Given the description of an element on the screen output the (x, y) to click on. 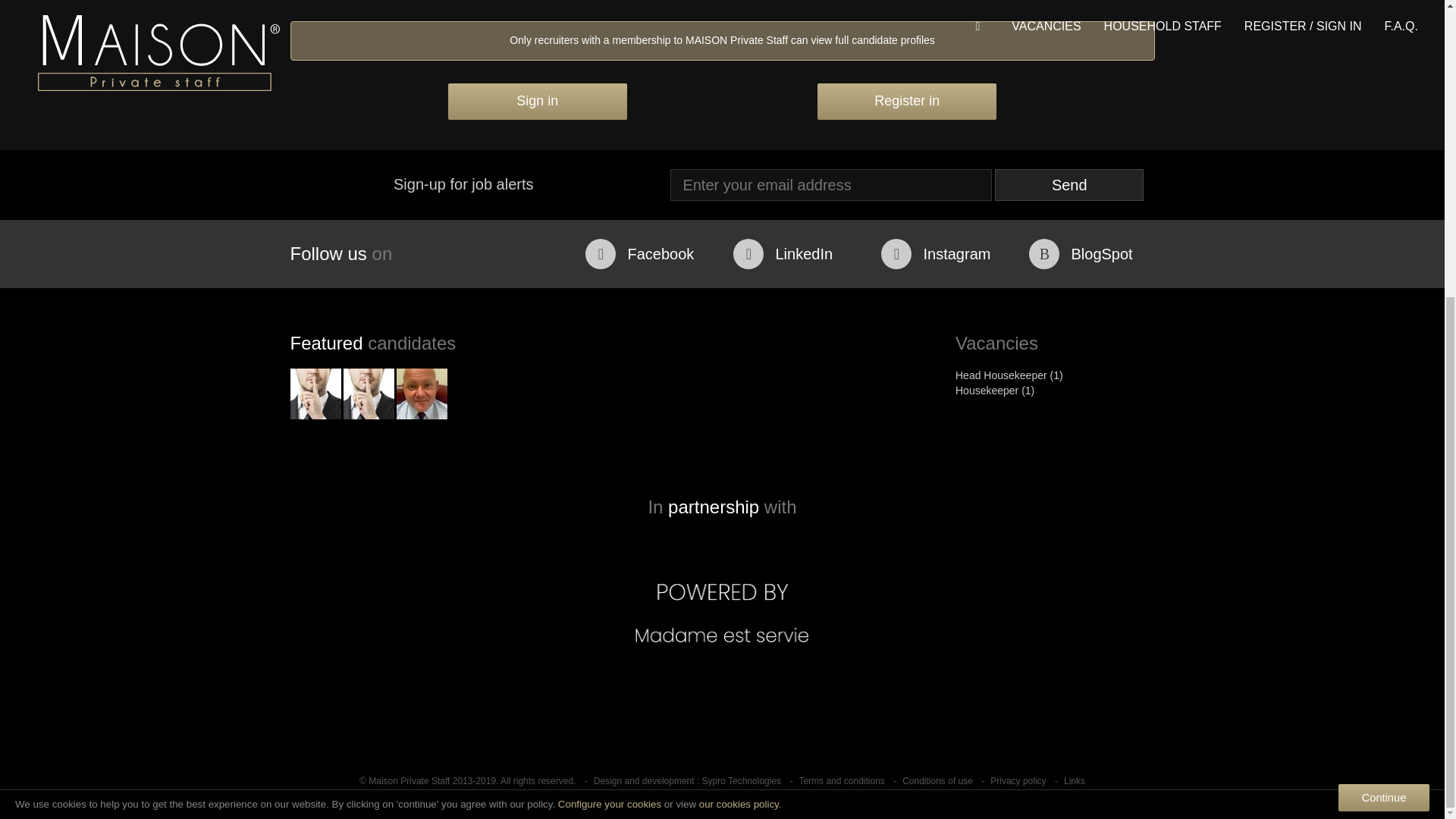
Links (1074, 780)
Send (1068, 184)
BlogSpot (1091, 254)
Facebook (647, 254)
Instagram (943, 254)
LinkedIn (796, 254)
Sign in (537, 101)
our cookies policy (738, 345)
Instagram (943, 254)
Housekeeper, Nanny (367, 393)
